Given the description of an element on the screen output the (x, y) to click on. 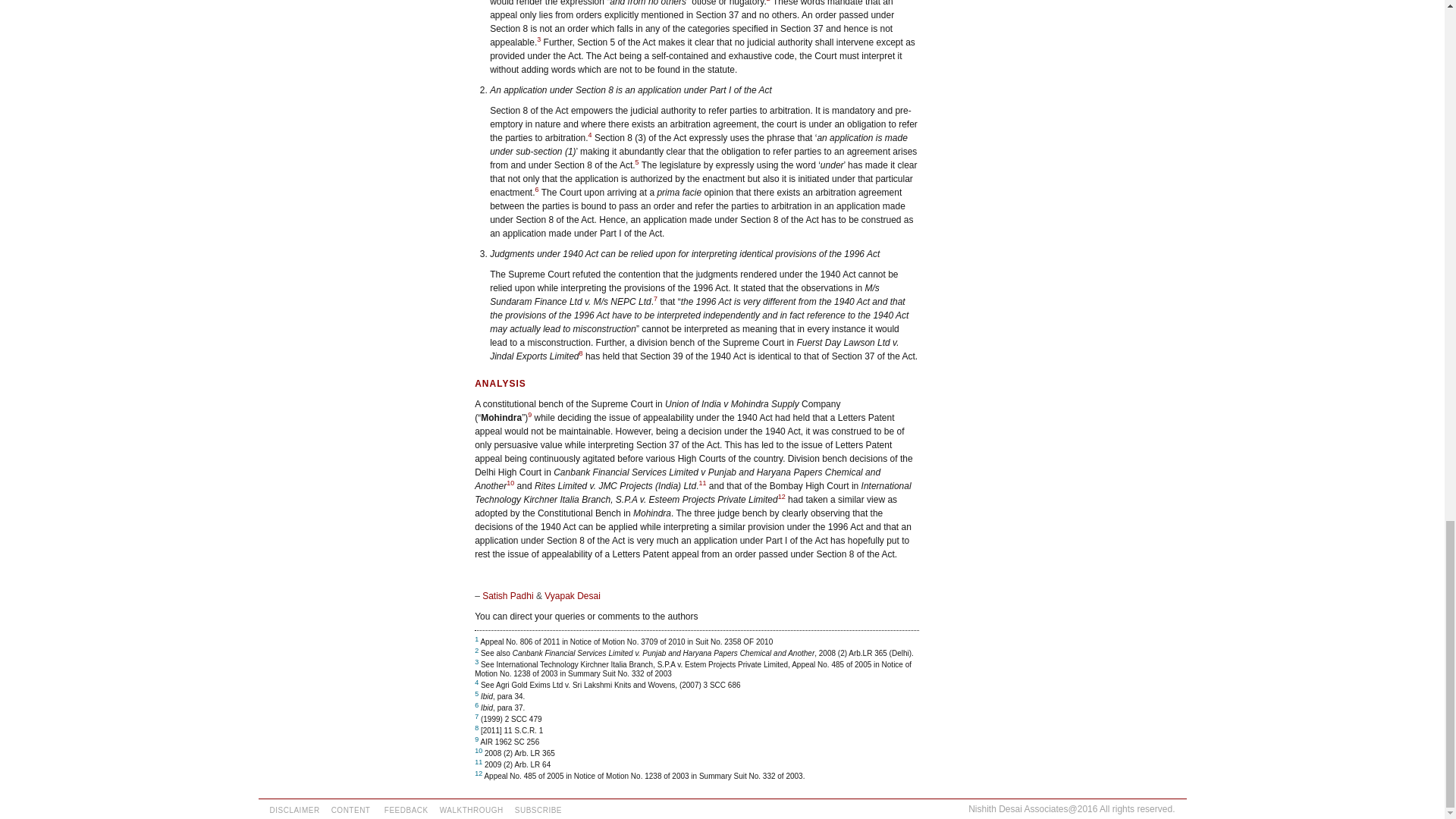
Opens external link in new window (781, 496)
Opens external link in new window (509, 482)
Opens external link in new window (702, 482)
